Given the description of an element on the screen output the (x, y) to click on. 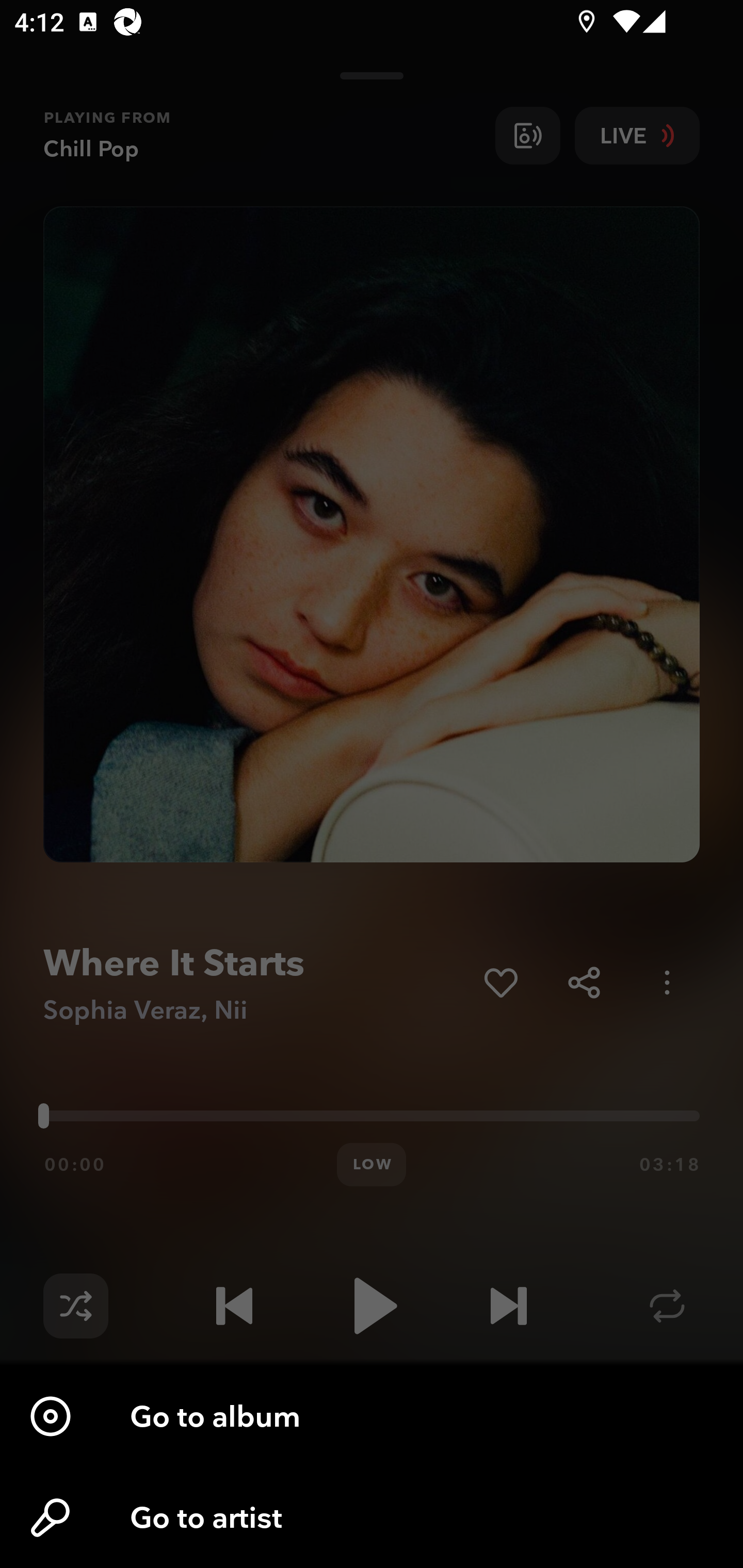
Go to album (371, 1416)
Go to artist (371, 1517)
